Given the description of an element on the screen output the (x, y) to click on. 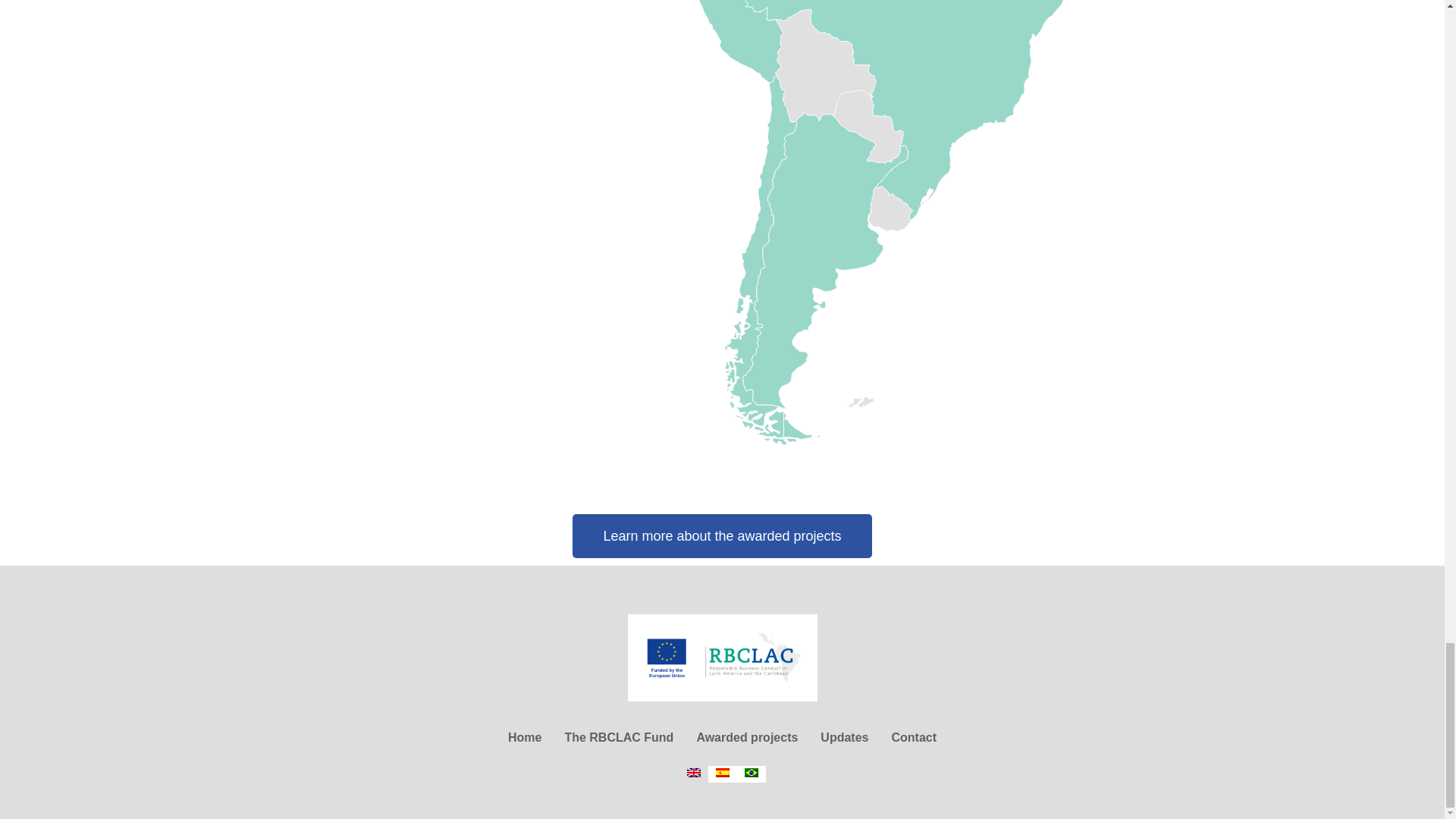
Learn more about the awarded projects (721, 535)
Home (524, 737)
Awarded projects (746, 737)
Updates (844, 737)
The RBCLAC Fund (618, 737)
Contact (913, 737)
